Given the description of an element on the screen output the (x, y) to click on. 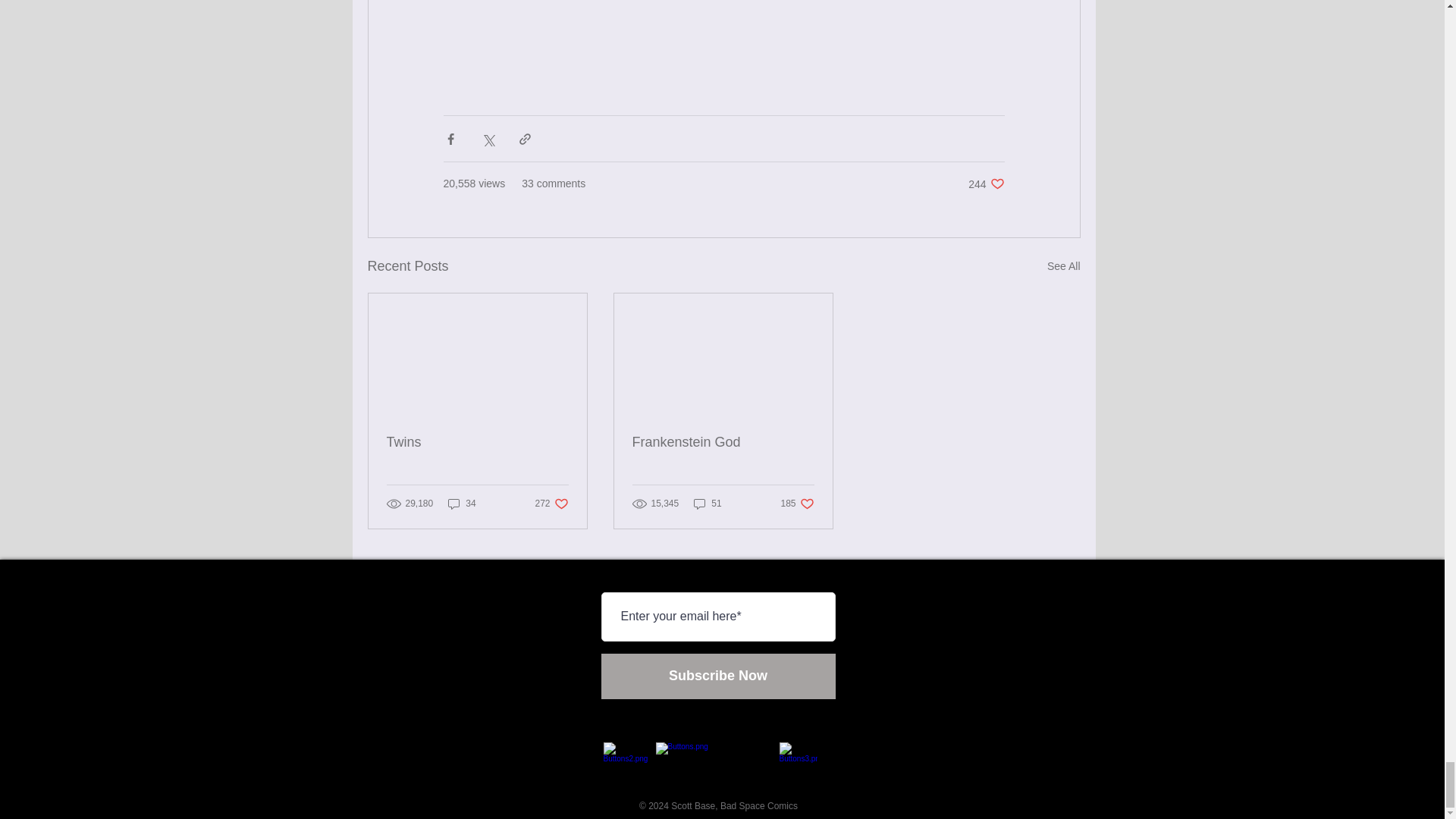
Twins (478, 442)
34 (986, 183)
Frankenstein God (550, 503)
See All (461, 503)
51 (722, 442)
Subscribe Now (1063, 266)
